Given the description of an element on the screen output the (x, y) to click on. 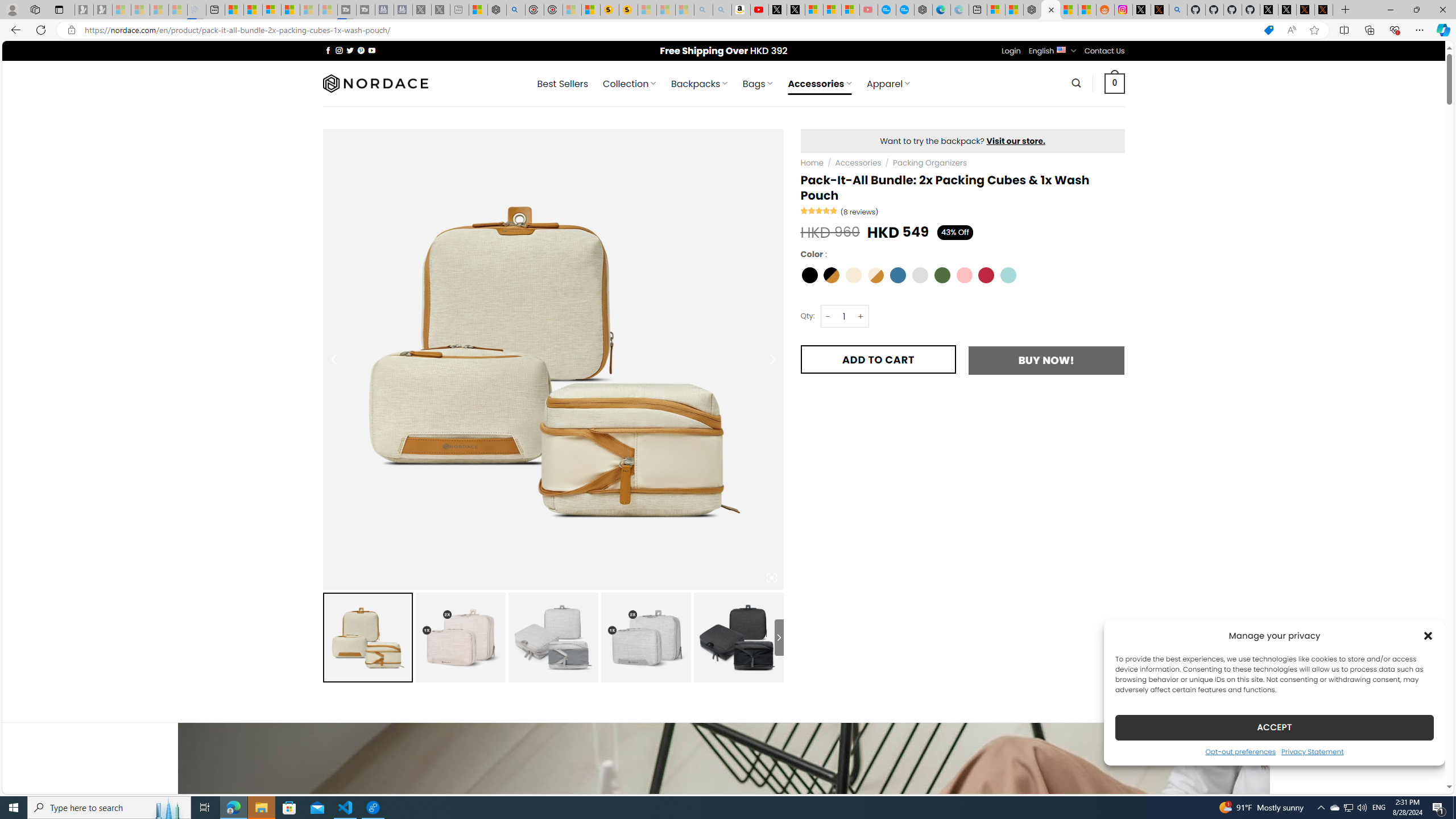
Contact Us (1104, 50)
Wildlife - MSN (478, 9)
Follow on Pinterest (360, 49)
Follow on Twitter (349, 49)
Microsoft Start - Sleeping (309, 9)
Login (1010, 50)
GitHub (@github) / X (1287, 9)
Follow on YouTube (371, 49)
 Best Sellers (562, 83)
Visit our store. (1015, 140)
